Given the description of an element on the screen output the (x, y) to click on. 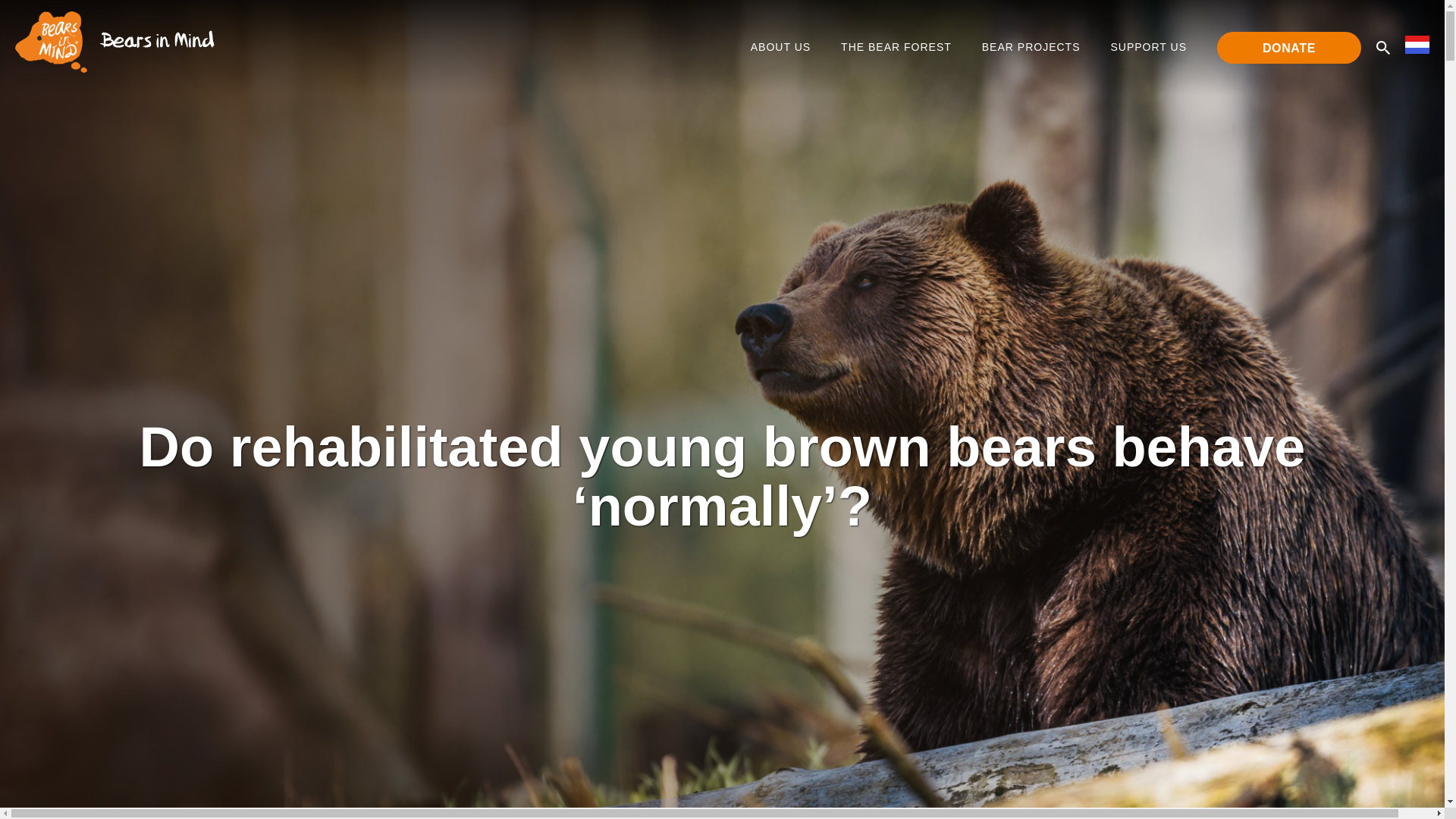
ABOUT US (783, 46)
SUPPORT US (1151, 46)
THE BEAR FOREST (898, 46)
DONATE (1289, 47)
BEAR PROJECTS (1034, 46)
